Given the description of an element on the screen output the (x, y) to click on. 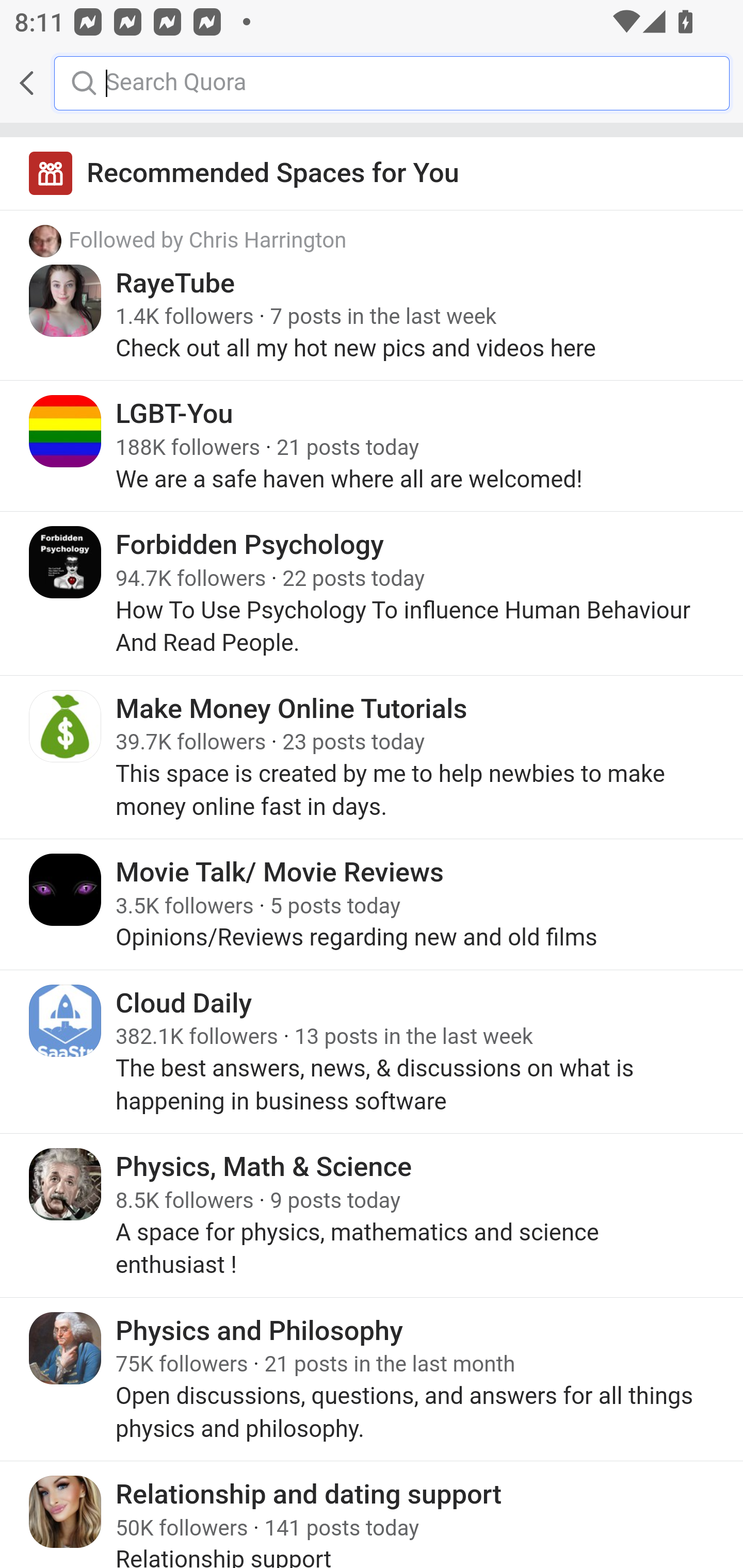
Me (64, 83)
Icon for RayeTube (65, 300)
Icon for LGBT-You (65, 430)
Icon for Forbidden Psychology (65, 561)
Icon for Make Money Online Tutorials (65, 726)
Icon for Movie Talk/ Movie Reviews (65, 889)
Icon for Cloud Daily (65, 1020)
Icon for Physics, Math & Science (65, 1184)
Icon for Physics and Philosophy (65, 1347)
Icon for Relationship and dating support (65, 1511)
